Given the description of an element on the screen output the (x, y) to click on. 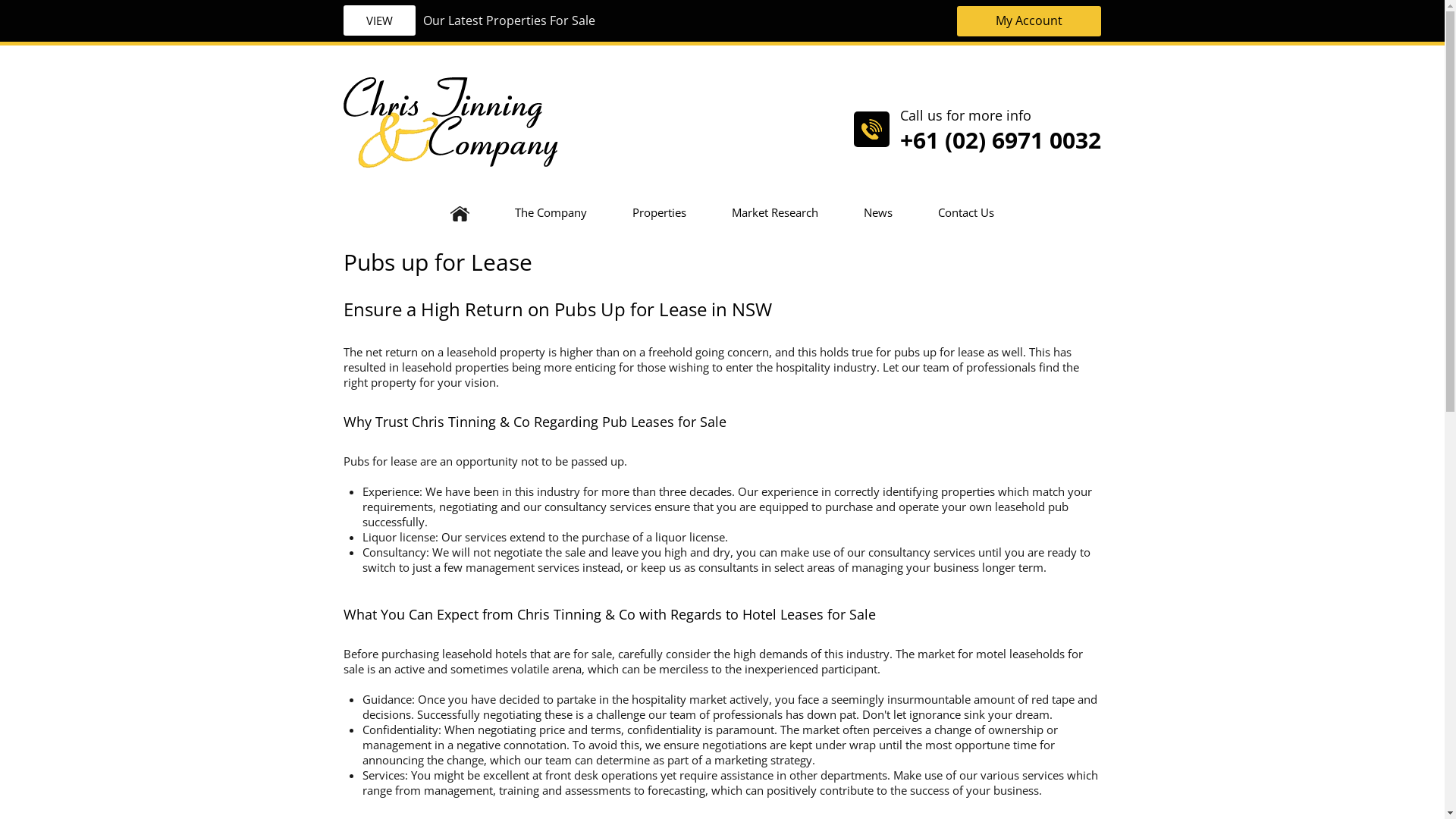
News Element type: text (877, 212)
Market Research Element type: text (774, 212)
Call us for more info
+61 (02) 6971 0032 Element type: text (977, 121)
Properties Element type: text (659, 212)
VIEW Element type: text (378, 20)
Chris Tinning & Company Element type: hover (449, 121)
Contact Us Element type: text (965, 212)
The Company Element type: text (550, 212)
